Given the description of an element on the screen output the (x, y) to click on. 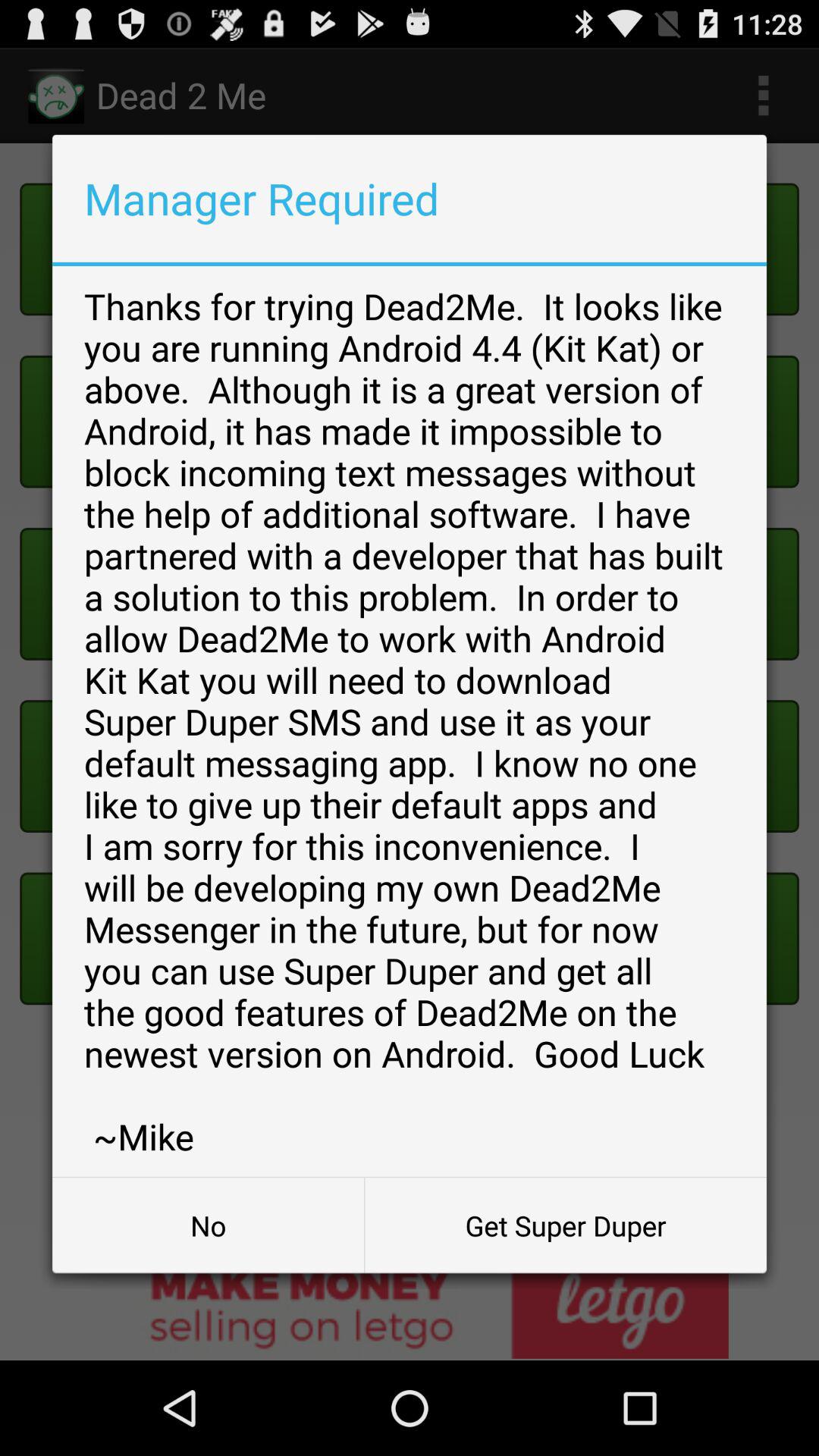
jump to get super duper (565, 1225)
